Given the description of an element on the screen output the (x, y) to click on. 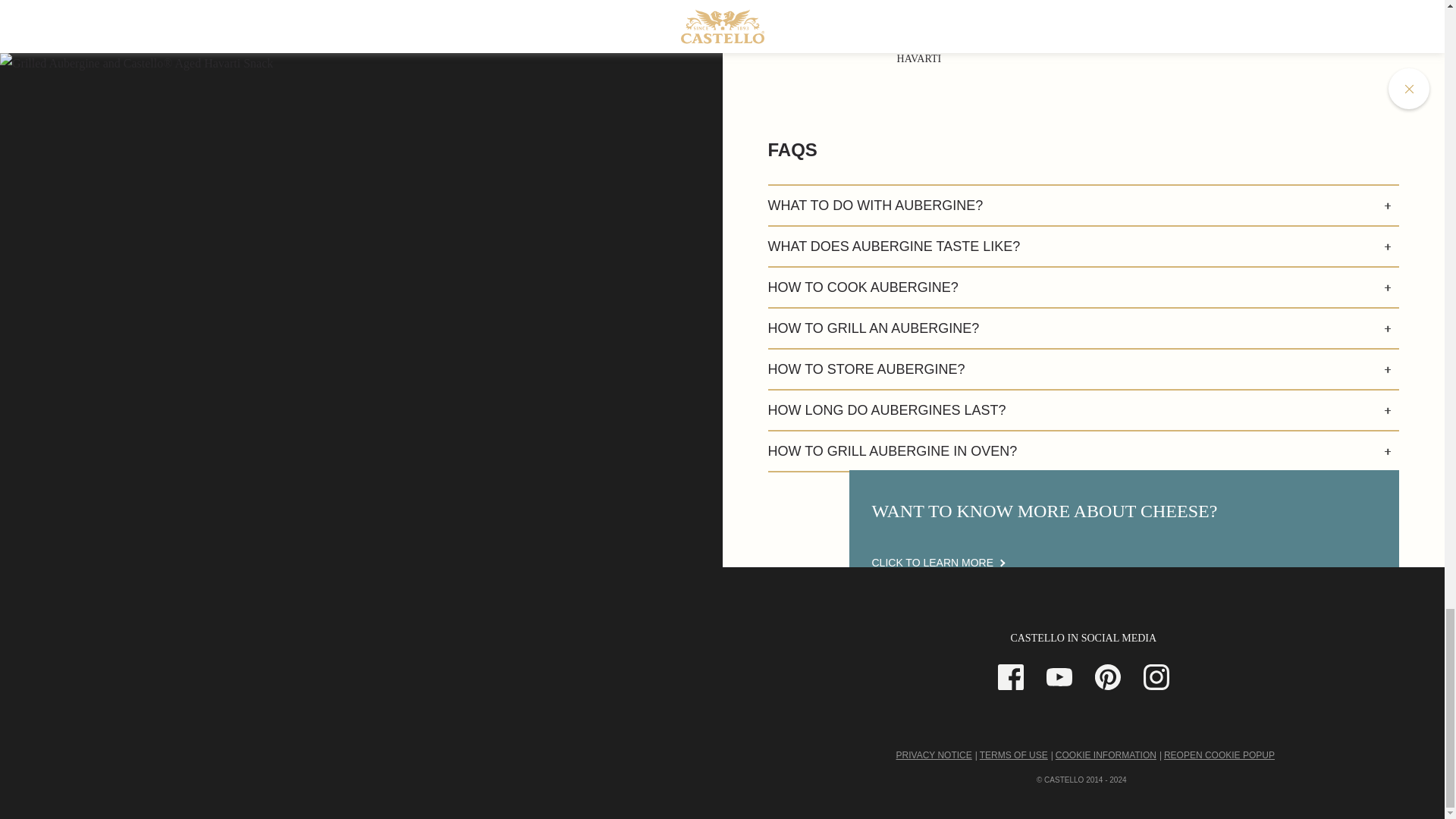
REOPEN COOKIE POPUP (1219, 755)
COOKIE INFORMATION (1105, 755)
TERMS OF USE (1013, 755)
PRIVACY NOTICE (934, 755)
